Given the description of an element on the screen output the (x, y) to click on. 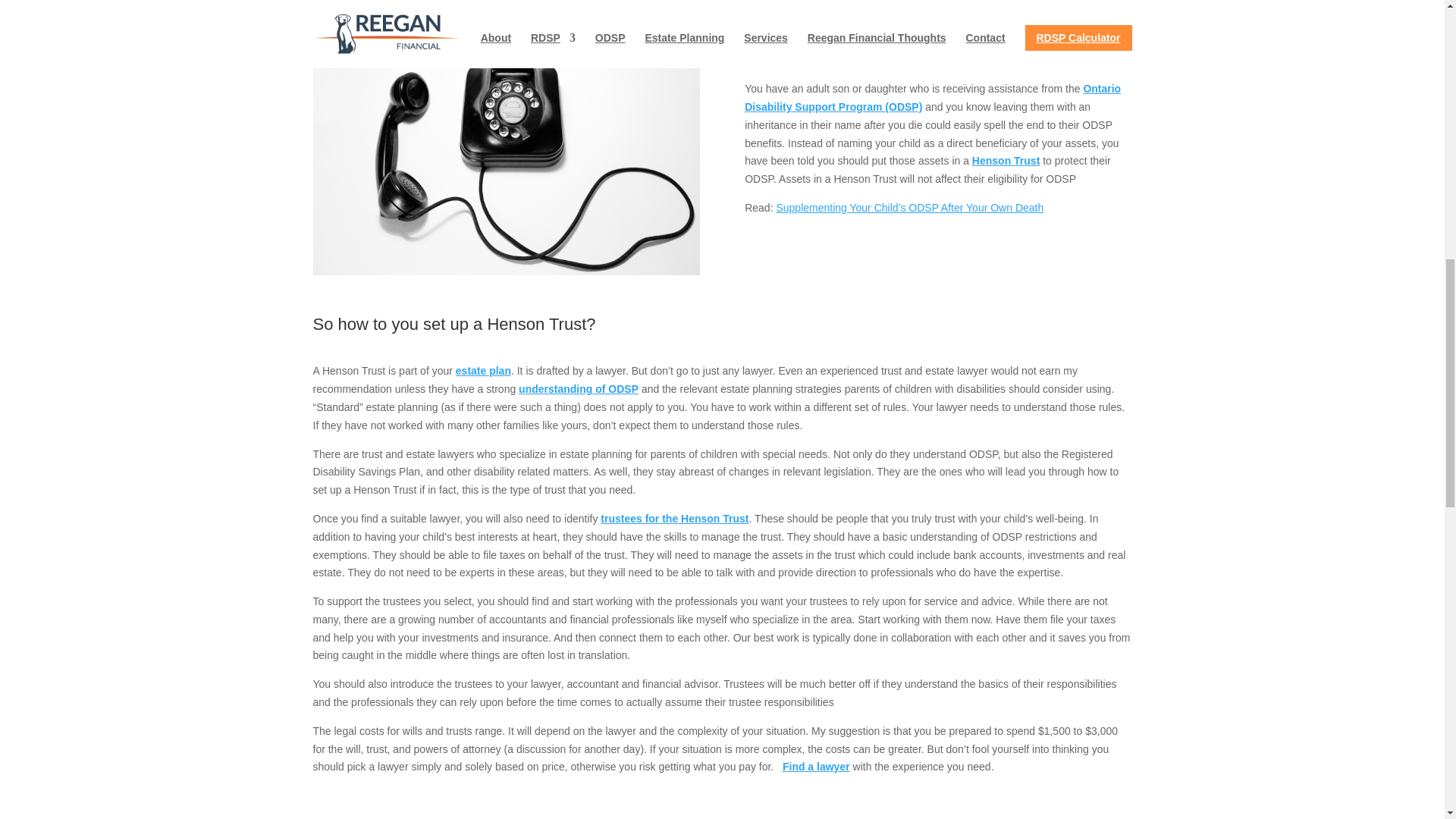
Henson Trust (1005, 160)
Find a lawyer (816, 766)
trustees for the Henson Trust (673, 518)
estate plan (483, 370)
understanding of ODSP (578, 388)
